Given the description of an element on the screen output the (x, y) to click on. 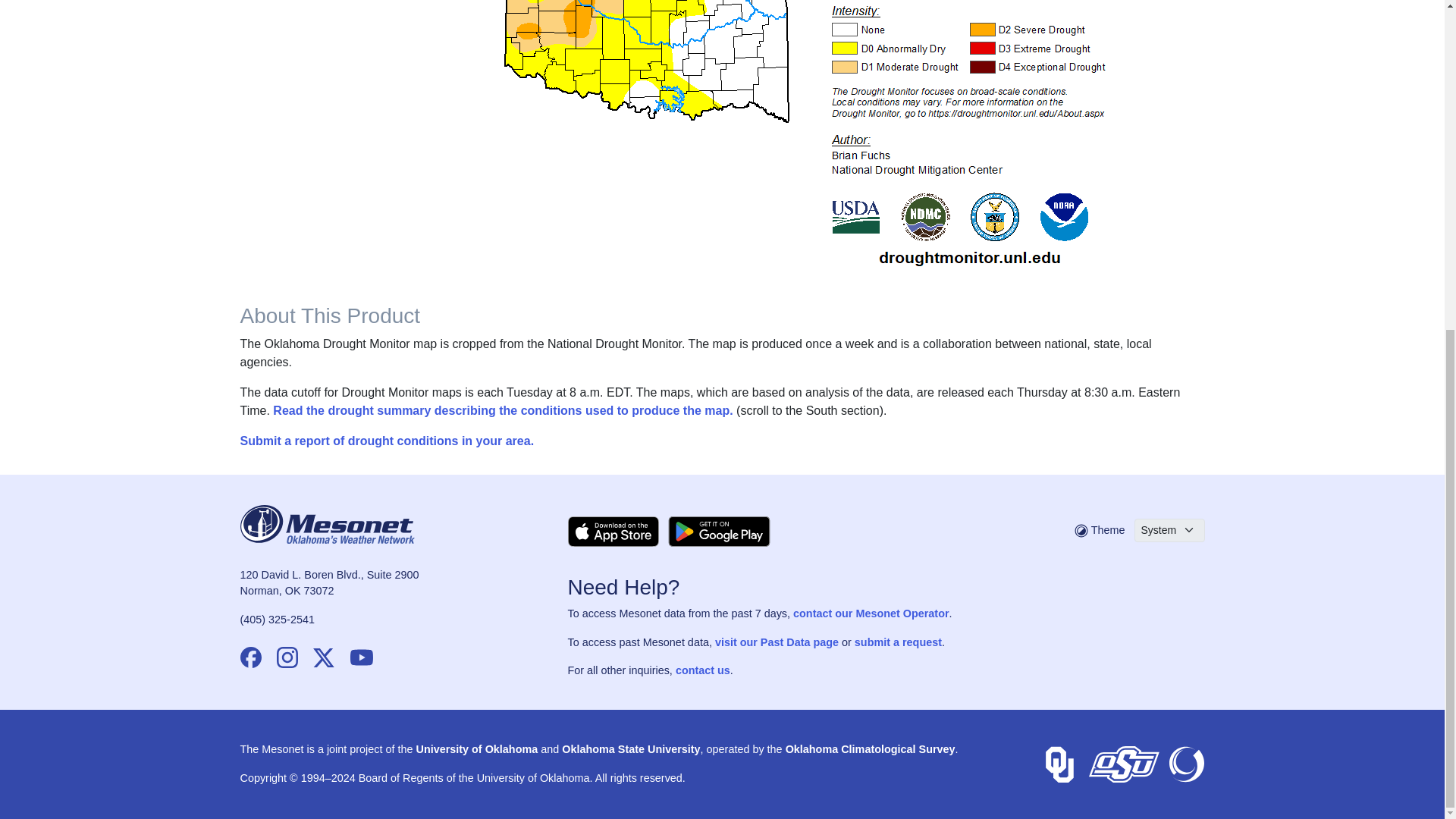
Submit a report of drought conditions in your area. (387, 440)
Oklahoma State University (1124, 763)
The University of Oklahoma (1058, 763)
Oklahoma Climatological Survey (1185, 763)
